Given the description of an element on the screen output the (x, y) to click on. 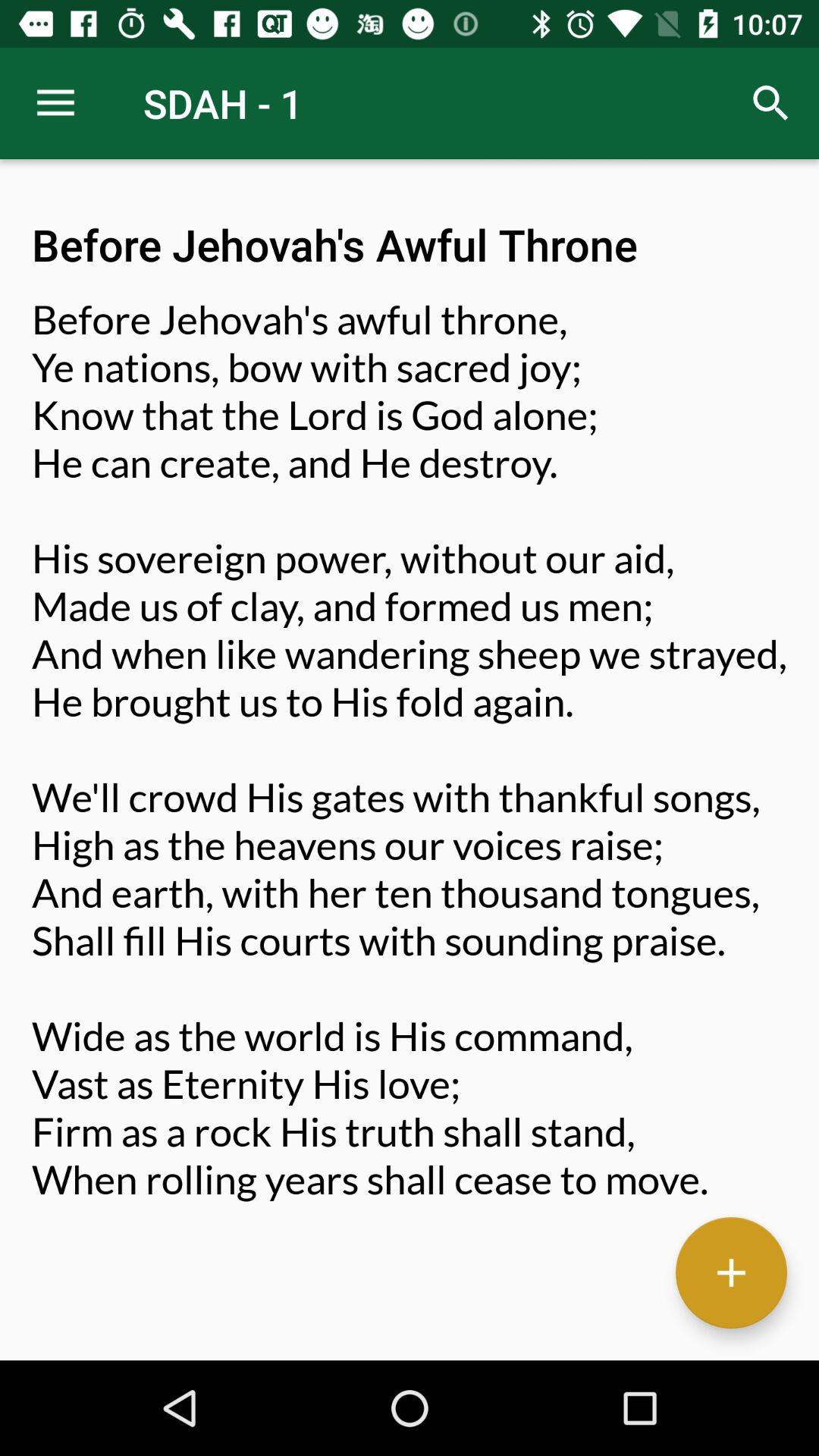
turn off icon at the bottom right corner (731, 1272)
